Given the description of an element on the screen output the (x, y) to click on. 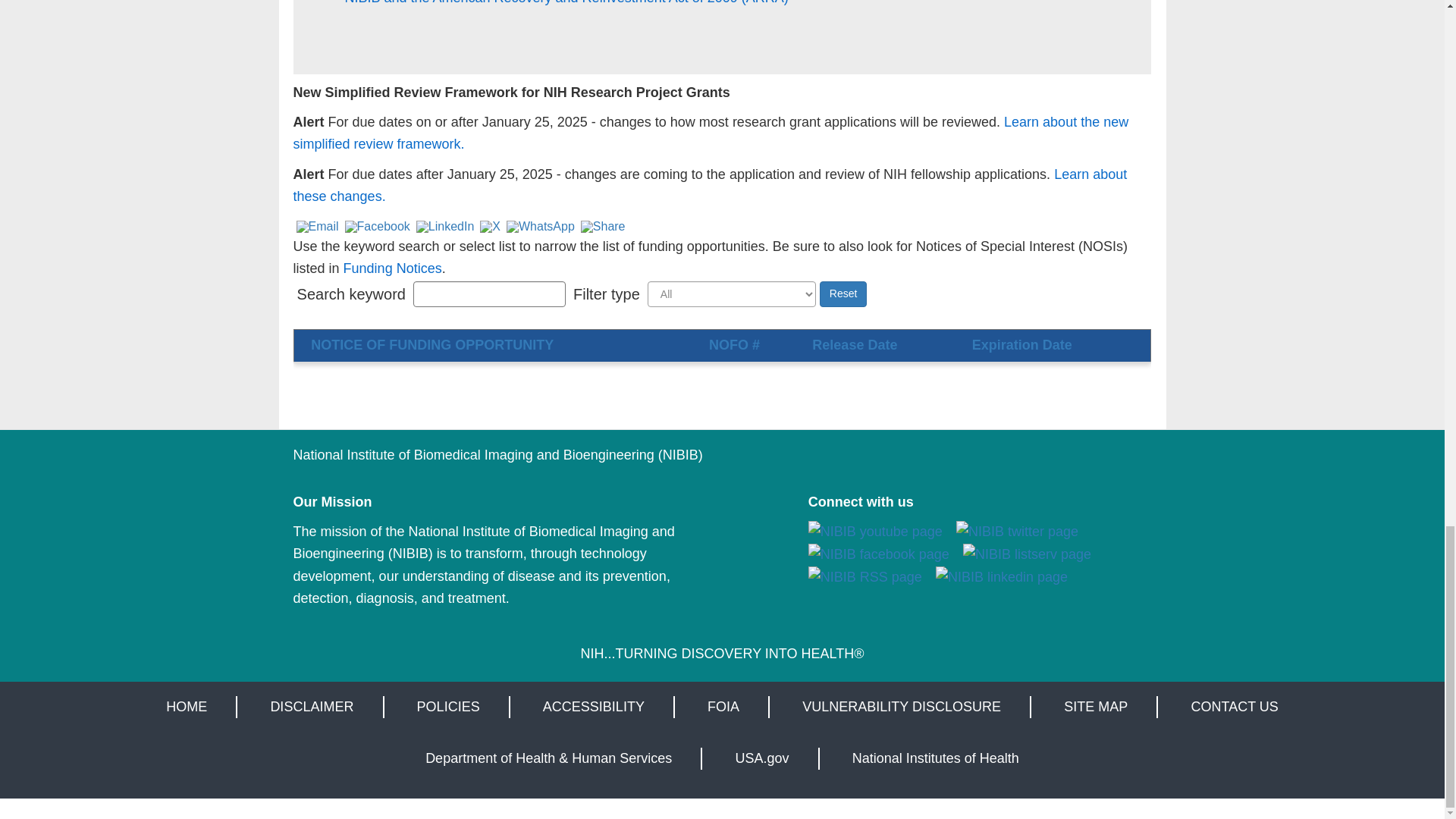
sort by FUNDING OPPORTUNITY ANNOUNCEMENT (432, 344)
Enter the terms you wish to search for. (489, 294)
sort by Expiration Date (1021, 344)
sort by Release Date (854, 344)
